Given the description of an element on the screen output the (x, y) to click on. 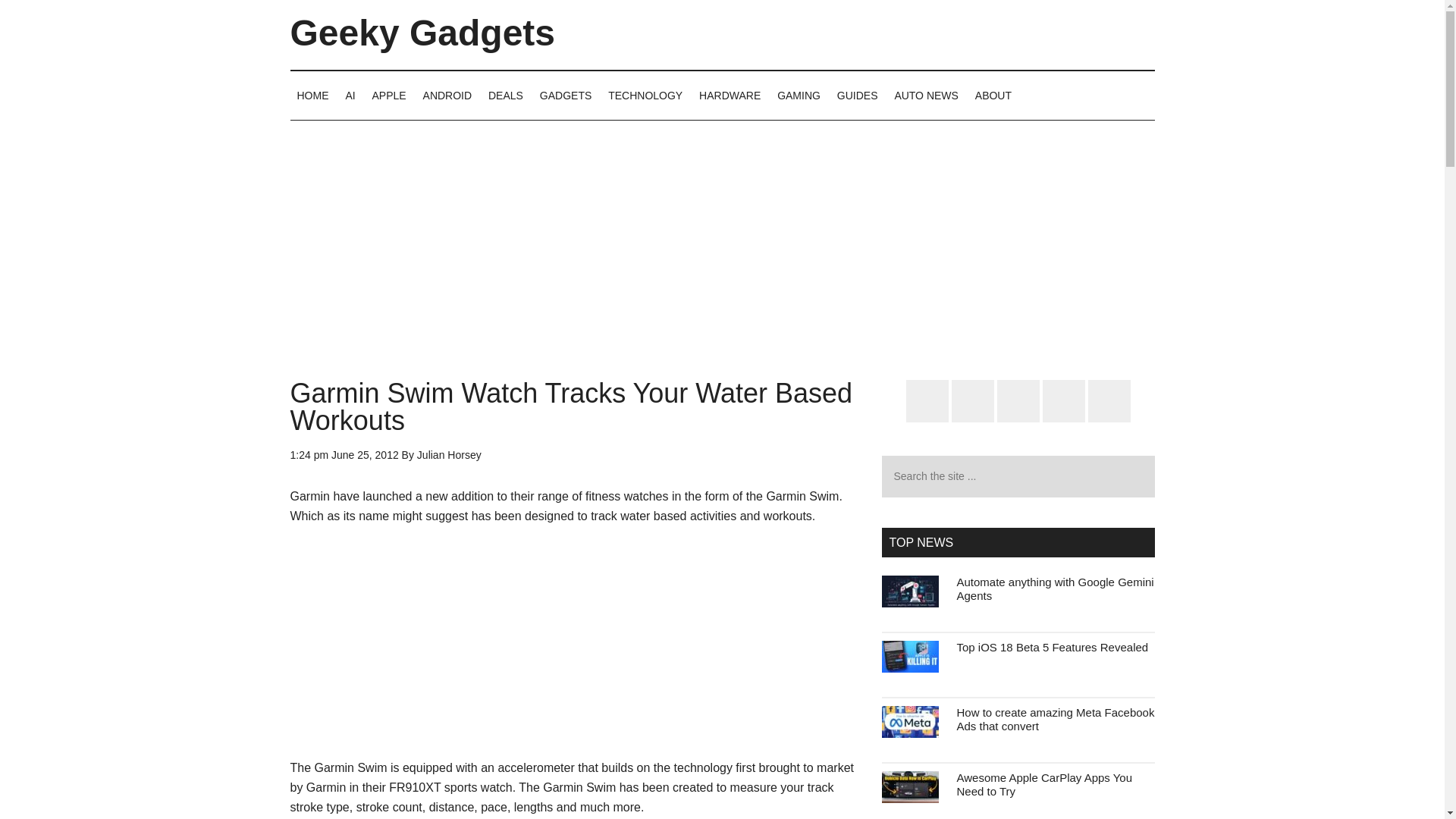
DEALS (505, 95)
AUTO NEWS (925, 95)
How to create amazing Meta Facebook Ads that convert (1055, 718)
Awesome Apple CarPlay Apps You Need to Try (1044, 784)
APPLE (389, 95)
Automate anything with Google Gemini Agents (1055, 588)
TECHNOLOGY (644, 95)
HARDWARE (730, 95)
About Geeky Gadgets (992, 95)
